Given the description of an element on the screen output the (x, y) to click on. 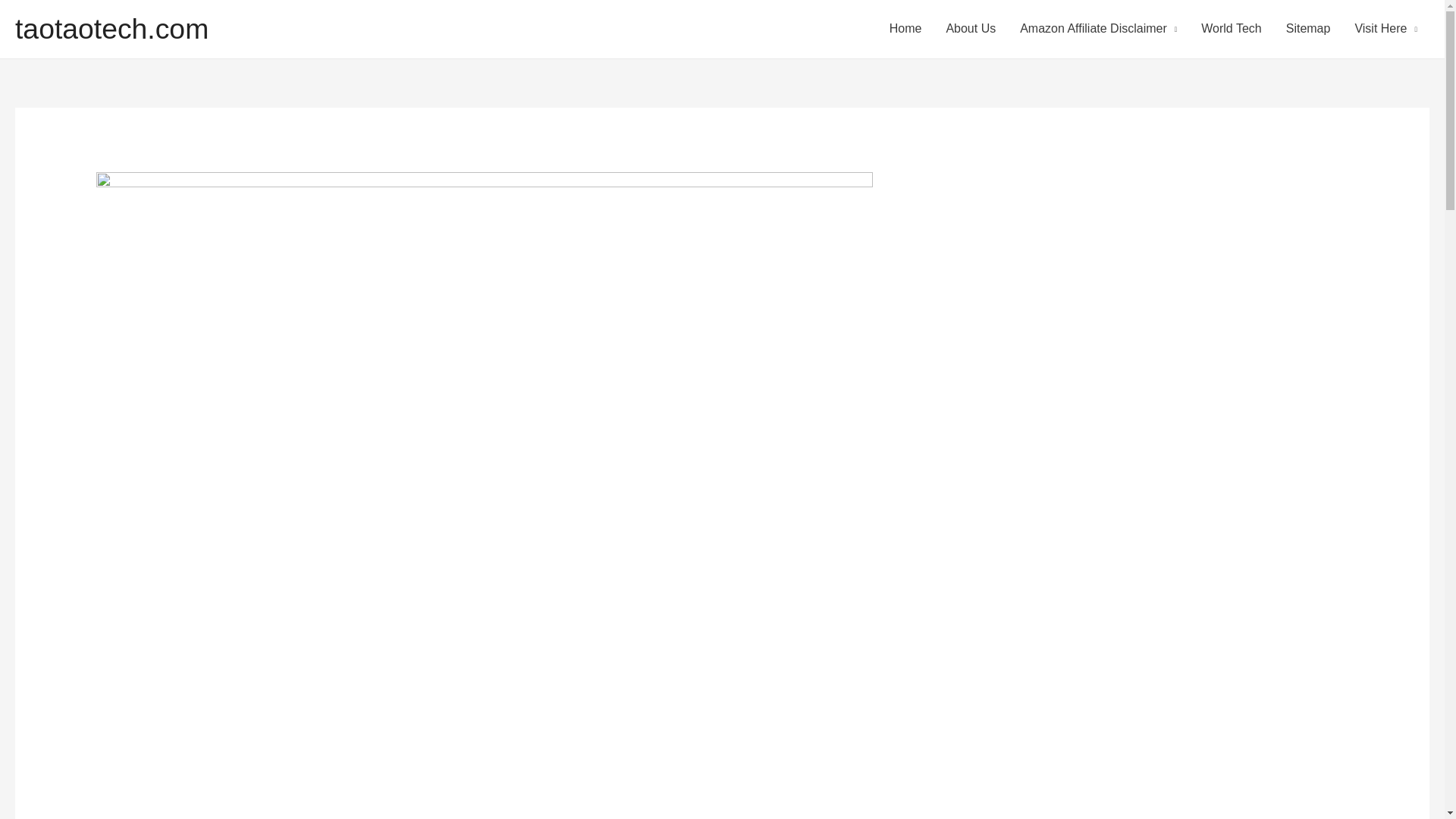
Sitemap (1308, 29)
Amazon Affiliate Disclaimer (1098, 29)
About Us (970, 29)
World Tech (1230, 29)
Visit Here (1385, 29)
taotaotech.com (111, 29)
Home (905, 29)
